Given the description of an element on the screen output the (x, y) to click on. 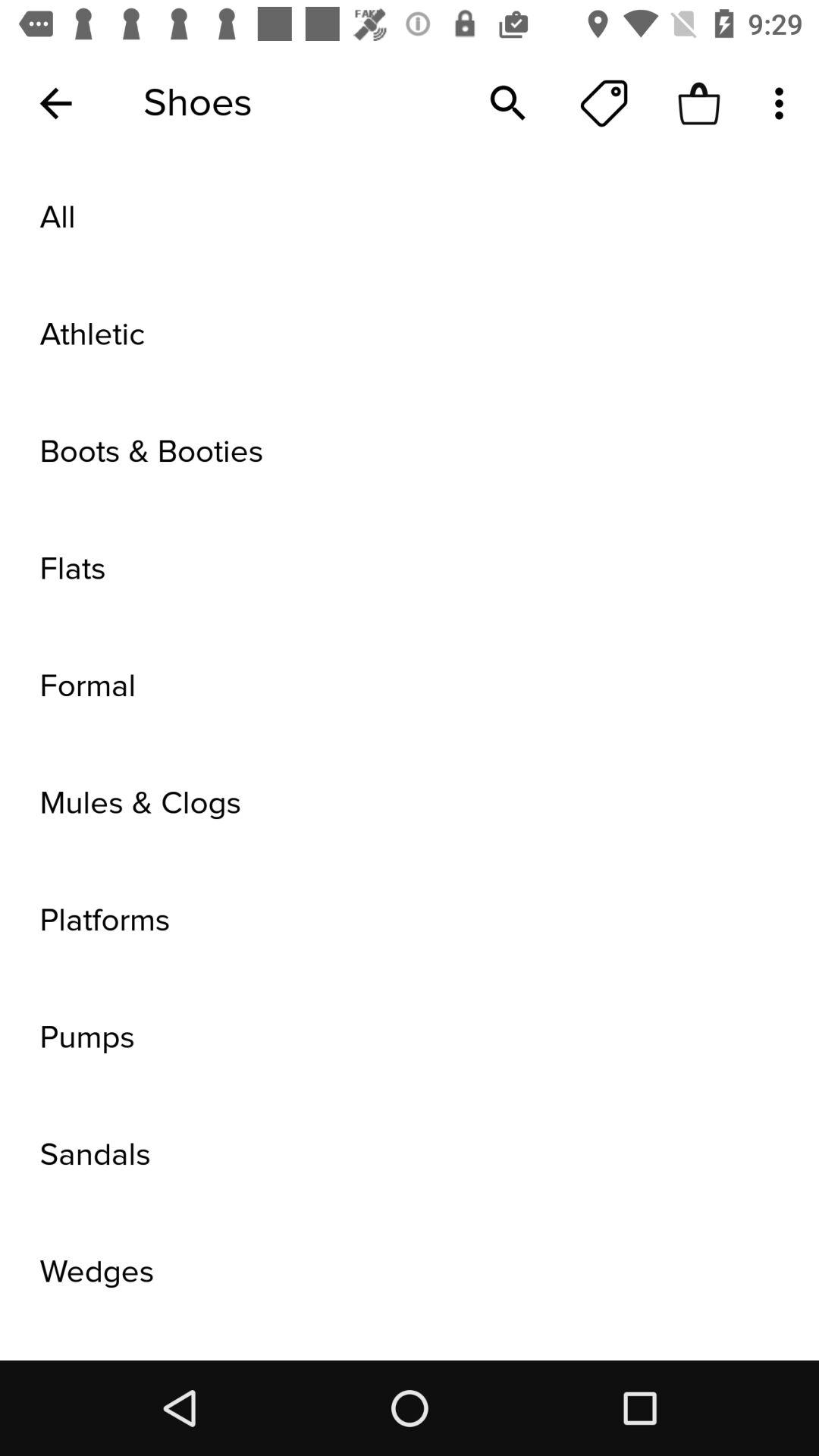
swipe to mules & clogs icon (409, 803)
